Given the description of an element on the screen output the (x, y) to click on. 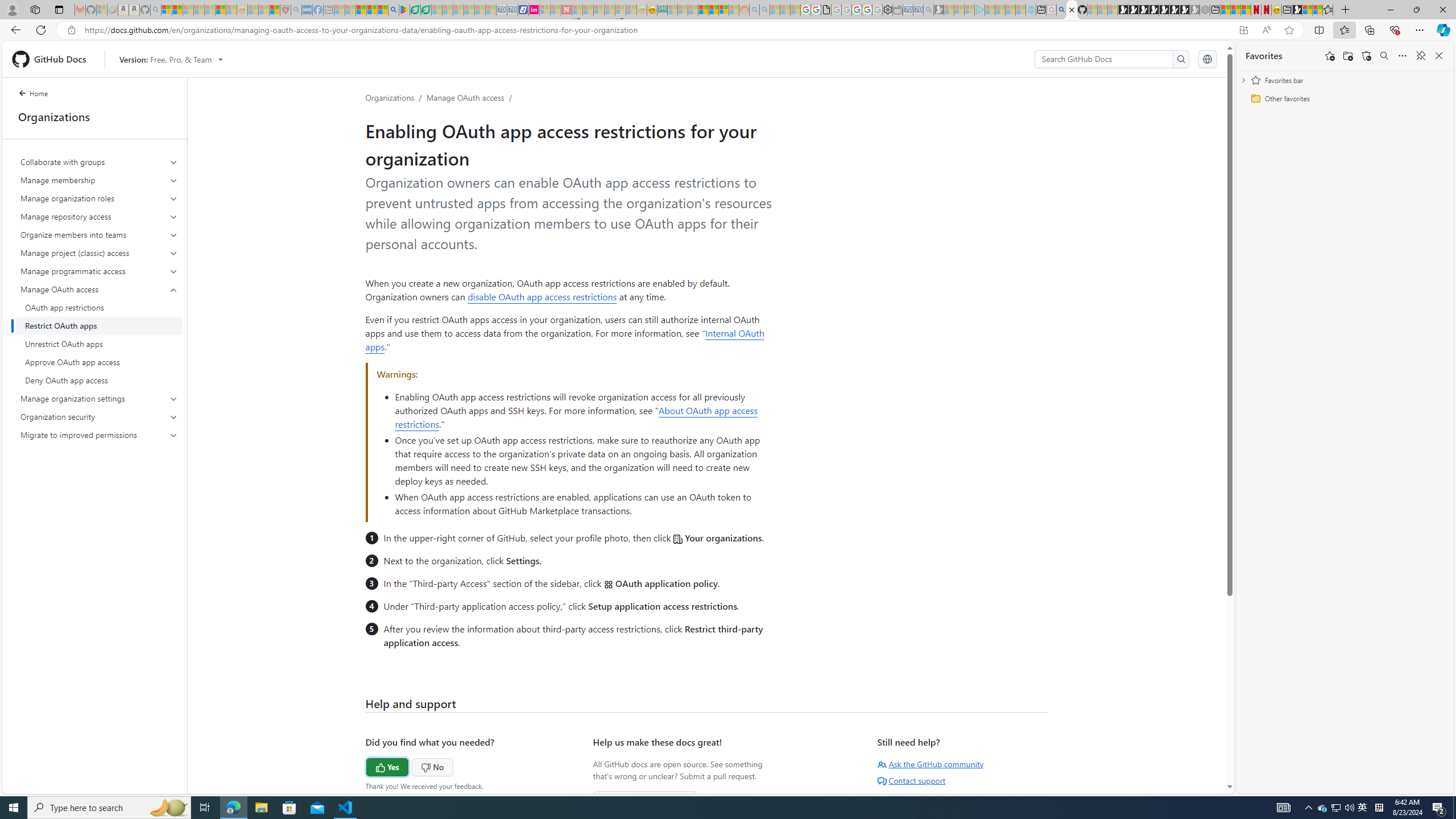
Manage organization settings (99, 398)
Approve OAuth app access (99, 361)
Organize members into teams (99, 235)
Collaborate with groups (99, 162)
Select language: current language is English (1207, 58)
